Given the description of an element on the screen output the (x, y) to click on. 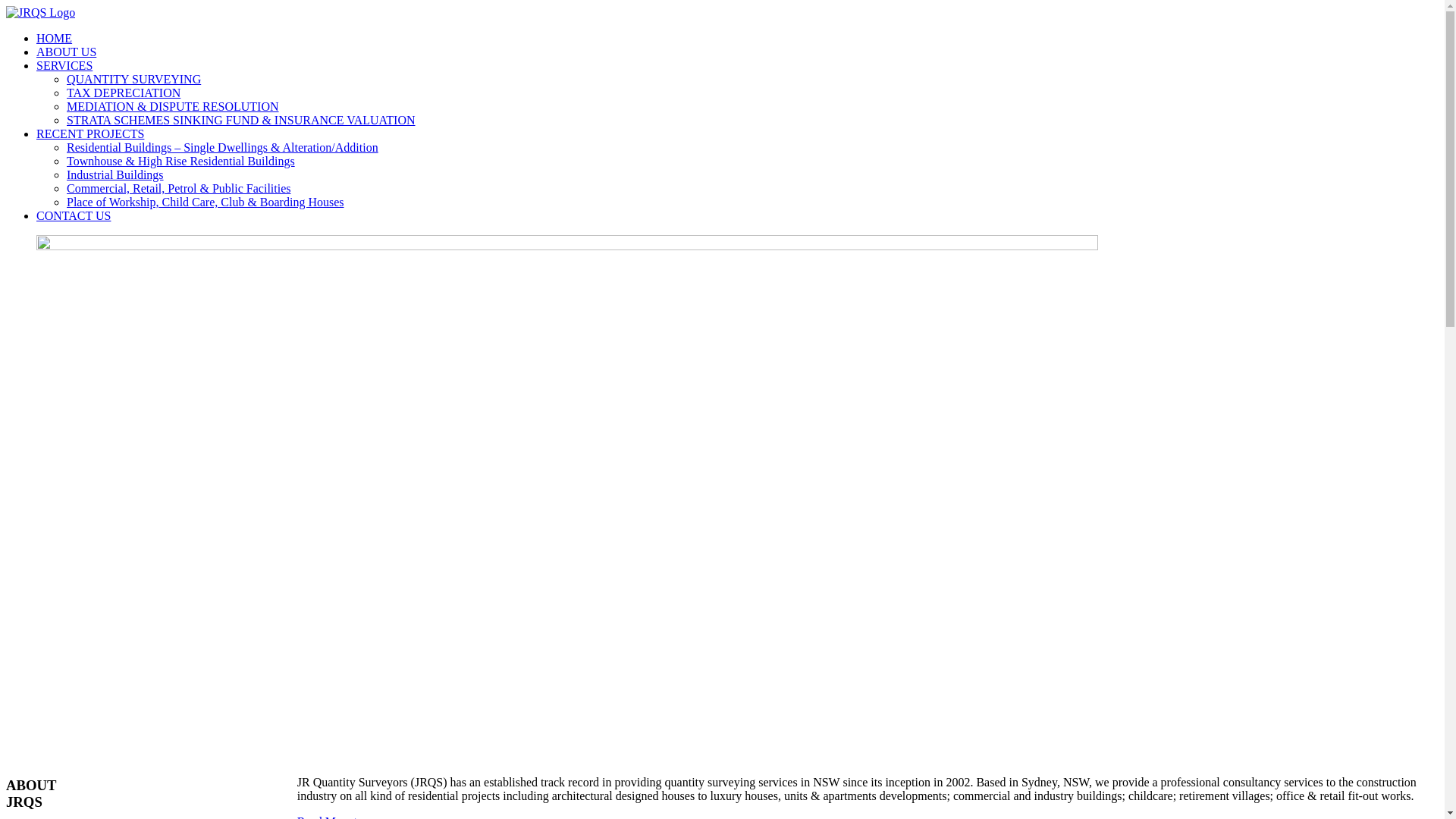
TAX DEPRECIATION Element type: text (123, 92)
Industrial Buildings Element type: text (114, 174)
QUANTITY SURVEYING Element type: text (133, 78)
RECENT PROJECTS Element type: text (90, 133)
Place of Workship, Child Care, Club & Boarding Houses Element type: text (205, 201)
HOME Element type: text (54, 37)
STRATA SCHEMES SINKING FUND & INSURANCE VALUATION Element type: text (240, 119)
SERVICES Element type: text (64, 65)
Commercial, Retail, Petrol & Public Facilities Element type: text (178, 188)
ABOUT US Element type: text (66, 51)
Townhouse & High Rise Residential Buildings Element type: text (180, 160)
CONTACT US Element type: text (73, 215)
MEDIATION & DISPUTE RESOLUTION Element type: text (172, 106)
JRQS Element type: hover (40, 12)
